Given the description of an element on the screen output the (x, y) to click on. 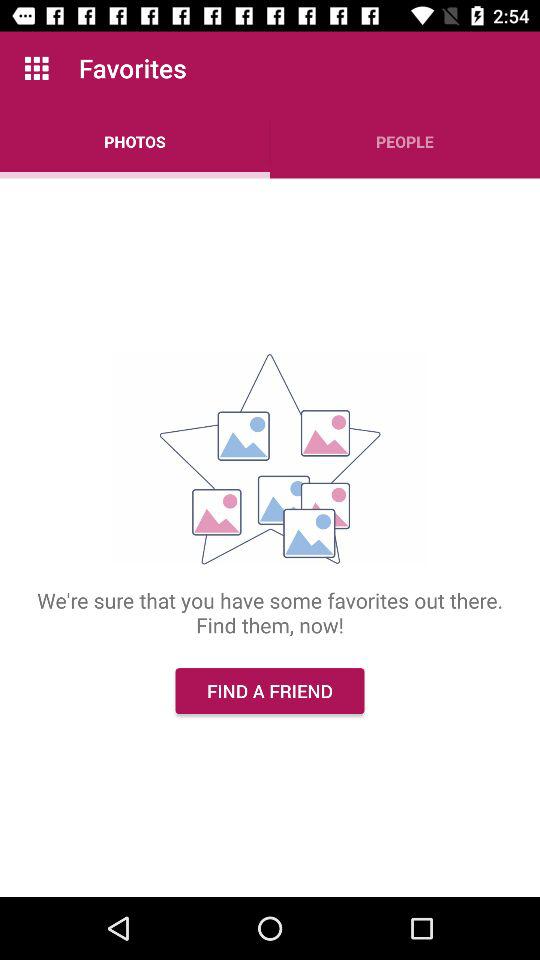
launch the icon next to the photos icon (405, 141)
